Given the description of an element on the screen output the (x, y) to click on. 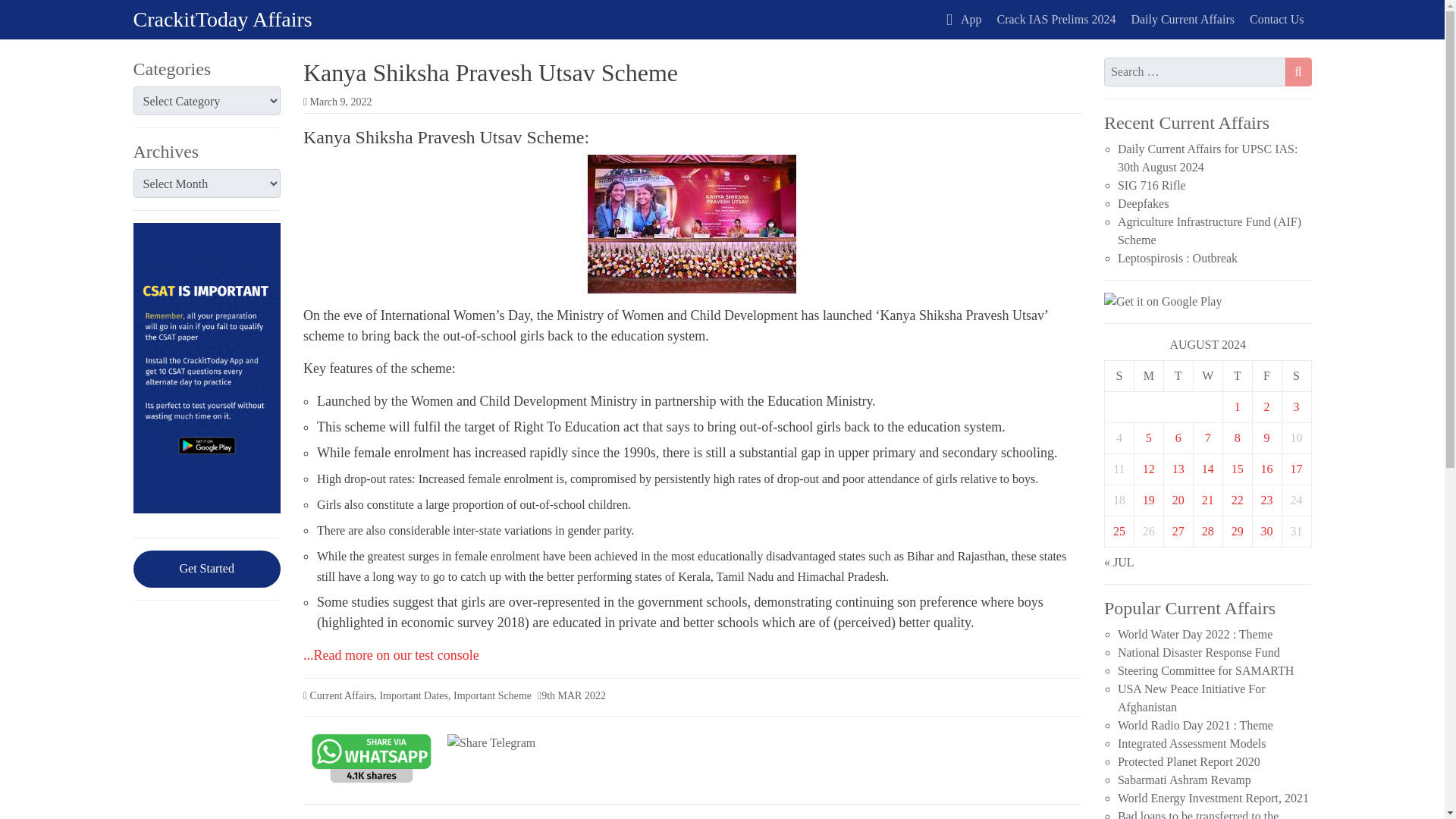
Get Started (207, 569)
Daily Current Affairs (1181, 19)
Crack IAS Prelims 2024 (1057, 19)
9th MAR 2022 (573, 695)
Friday (1266, 376)
...Read more on our test console (390, 654)
CrackitToday Affairs (223, 19)
Skip to content (20, 17)
Current Affairs (342, 695)
